Given the description of an element on the screen output the (x, y) to click on. 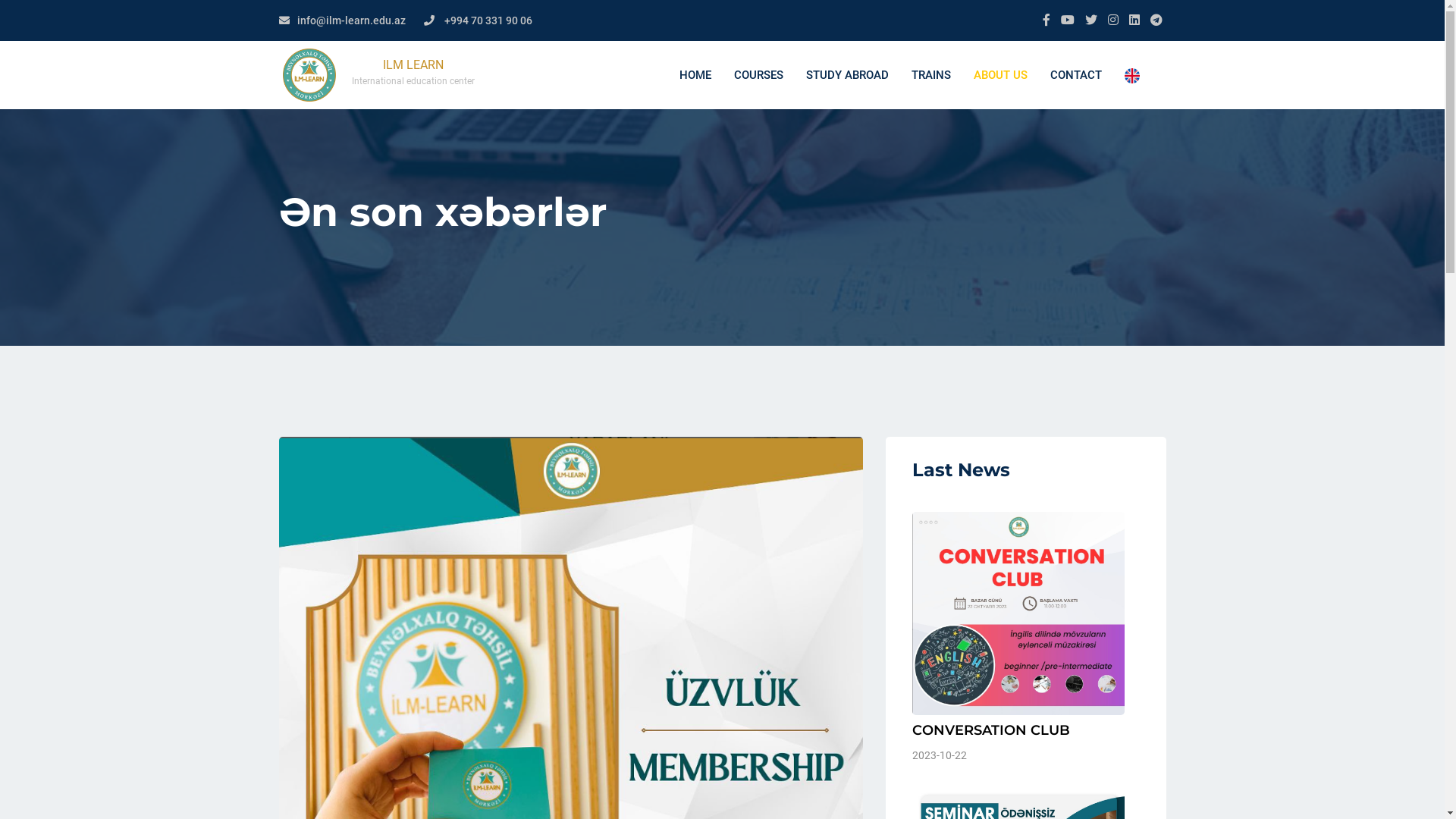
HOME Element type: text (694, 75)
CONTACT Element type: text (1075, 75)
CONVERSATION CLUB
2023-10-22 Element type: text (1025, 637)
info@ilm-learn.edu.az Element type: text (351, 20)
TRAINS Element type: text (930, 75)
ABOUT US Element type: text (999, 75)
+994 70 331 90 06 Element type: text (488, 20)
STUDY ABROAD Element type: text (847, 75)
COURSES Element type: text (757, 75)
